Given the description of an element on the screen output the (x, y) to click on. 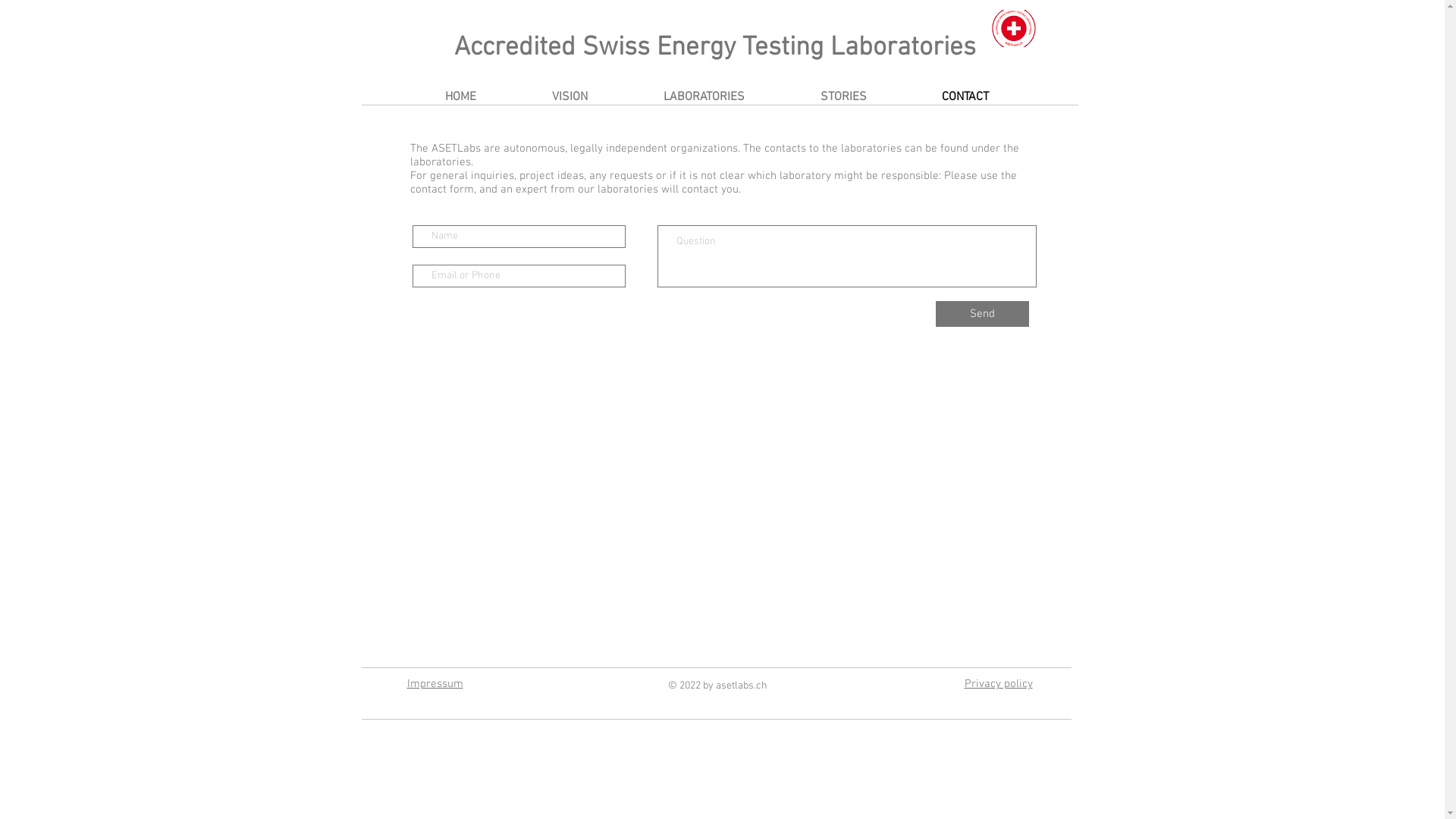
CONTACT Element type: text (964, 97)
Send Element type: text (982, 313)
VISION Element type: text (569, 97)
Privacy policy Element type: text (998, 683)
LABORATORIES Element type: text (702, 97)
HOME Element type: text (459, 97)
Accredited Swiss Energy Testing Laboratories Element type: text (714, 47)
Impressum Element type: text (434, 683)
STORIES Element type: text (843, 97)
